Given the description of an element on the screen output the (x, y) to click on. 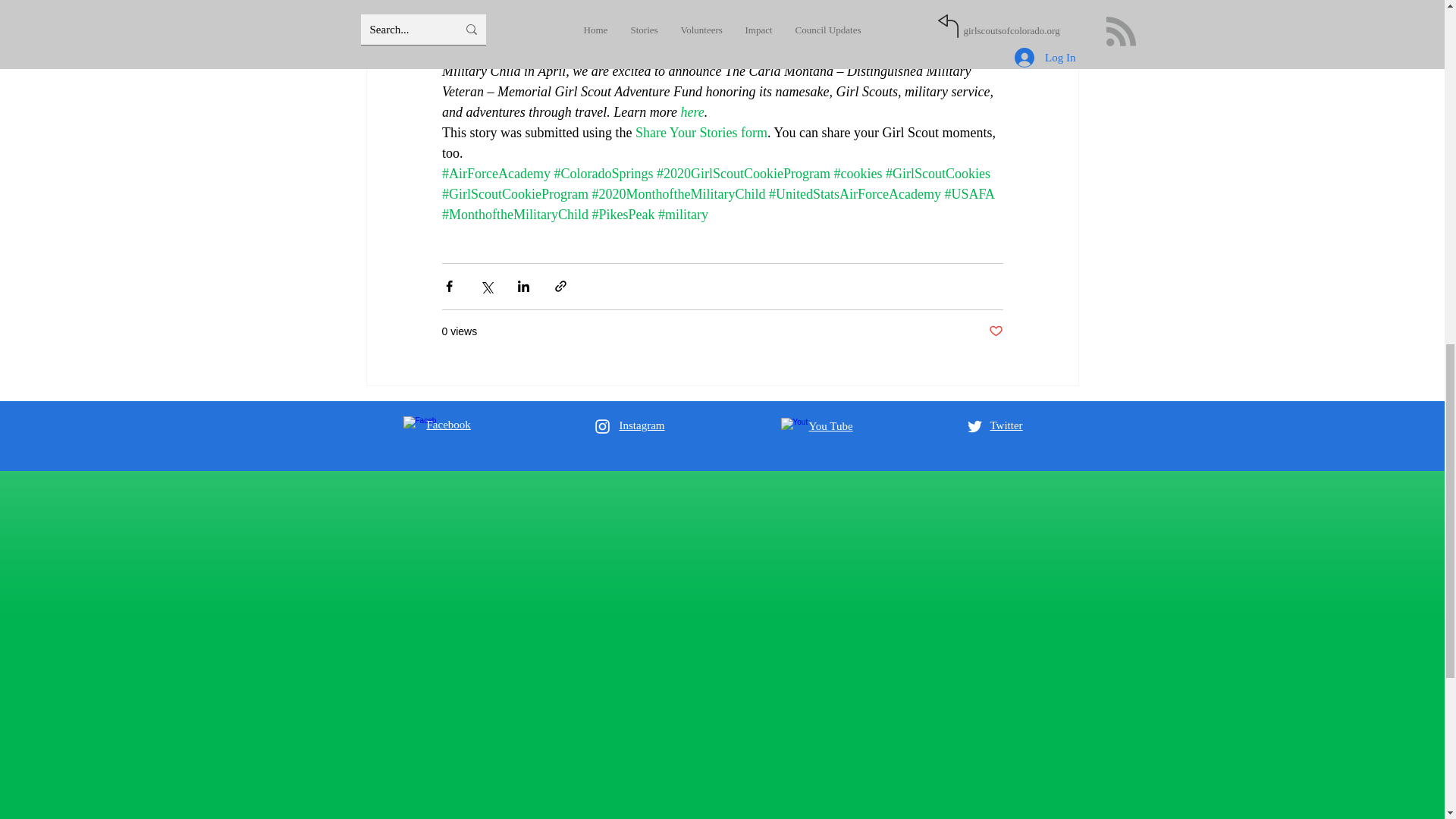
here (691, 111)
Share Your Stories form (700, 132)
Post not marked as liked (995, 331)
